Given the description of an element on the screen output the (x, y) to click on. 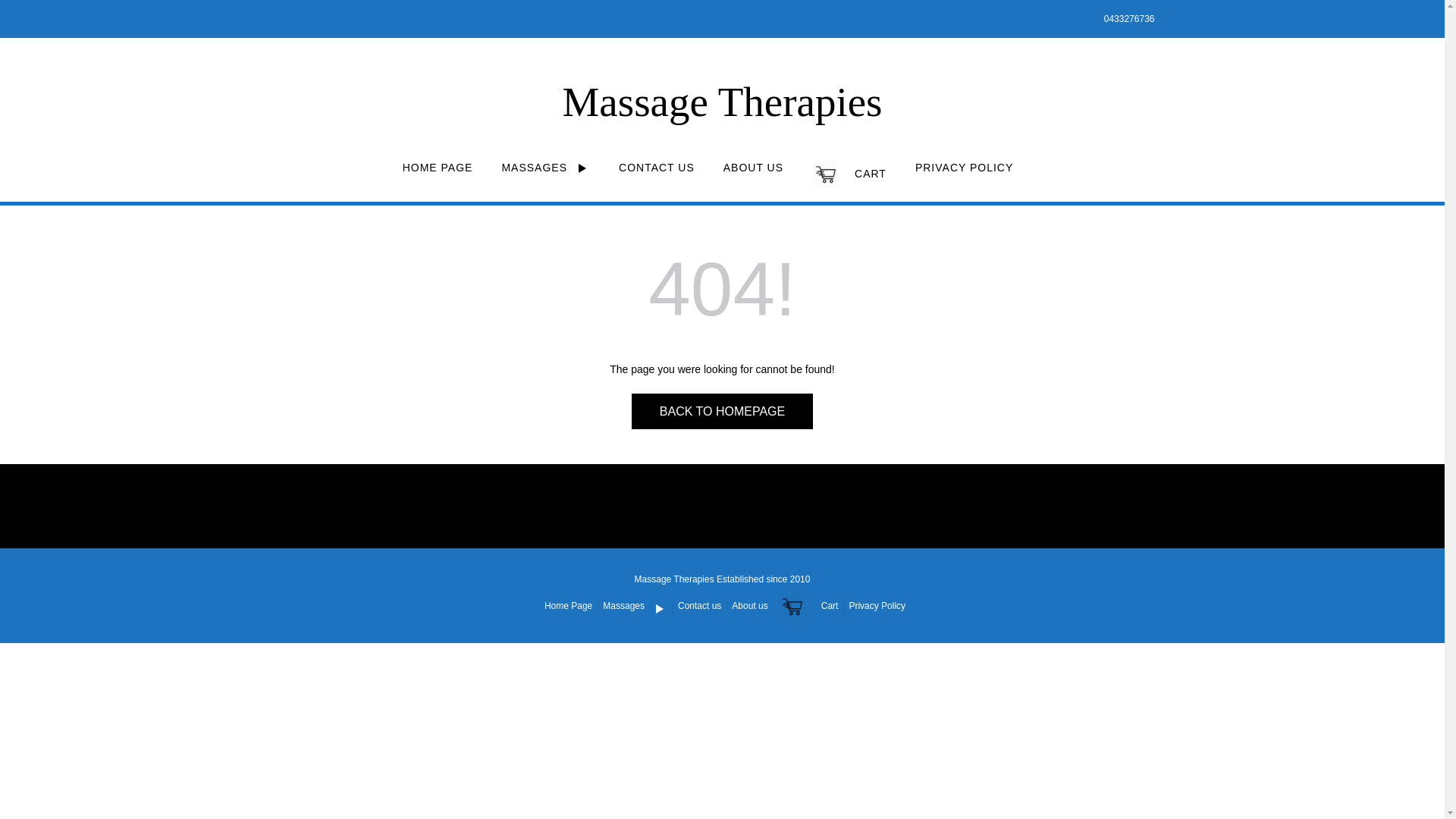
Massages Element type: text (634, 608)
BACK TO HOMEPAGE Element type: text (721, 411)
PRIVACY POLICY Element type: text (964, 174)
CONTACT US Element type: text (656, 174)
HOME PAGE Element type: text (437, 174)
Massage Therapies Element type: text (721, 101)
Contact us Element type: text (699, 605)
MASSAGES Element type: text (545, 174)
Cart Element type: text (808, 606)
ABOUT US Element type: text (753, 174)
Privacy Policy Element type: text (874, 605)
About us Element type: text (749, 605)
Home Page Element type: text (568, 605)
CART Element type: text (849, 180)
